Given the description of an element on the screen output the (x, y) to click on. 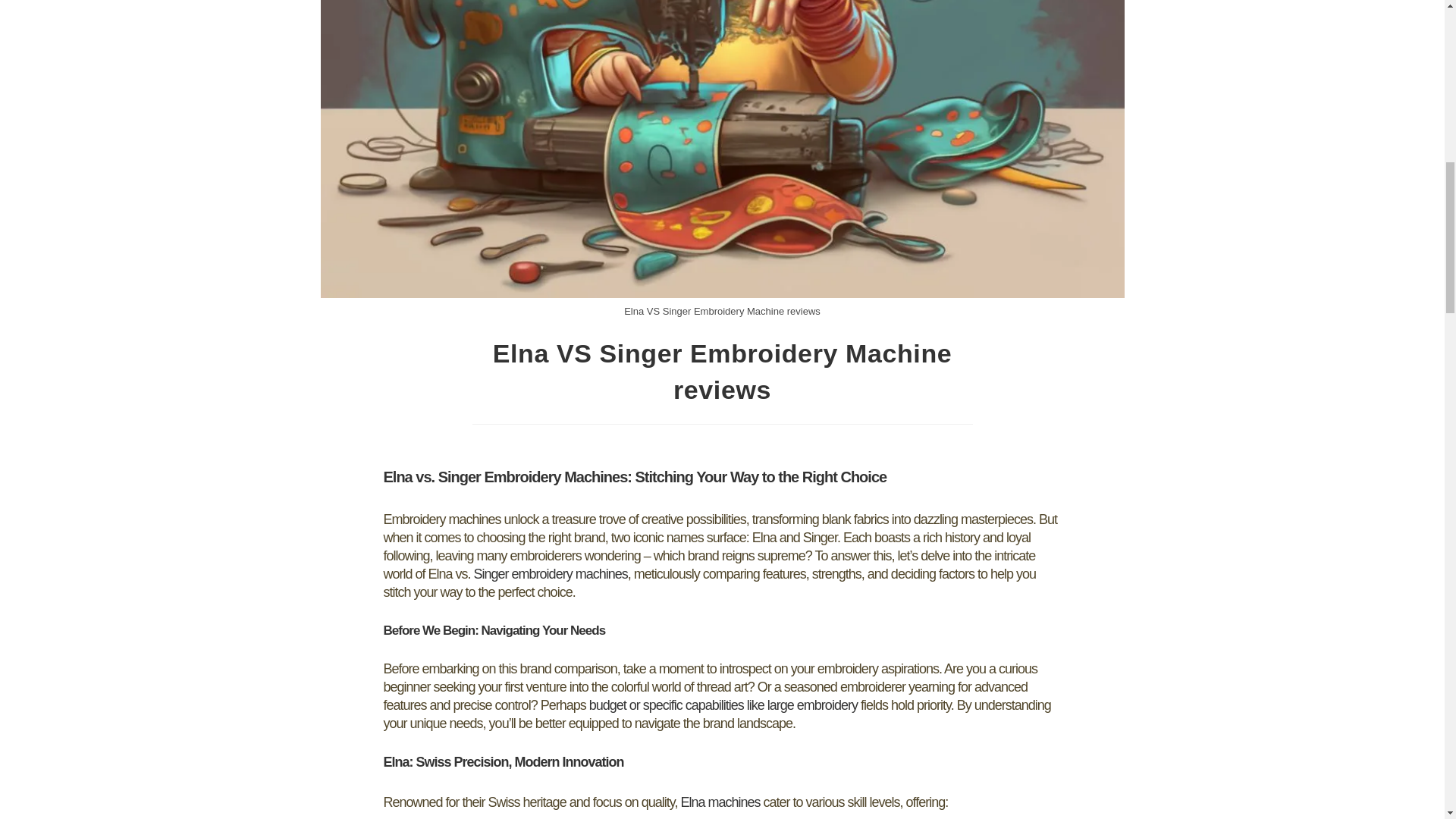
budget or specific capabilities like large embroidery (723, 704)
Singer embroidery machines (550, 573)
Elna machines (719, 801)
